Given the description of an element on the screen output the (x, y) to click on. 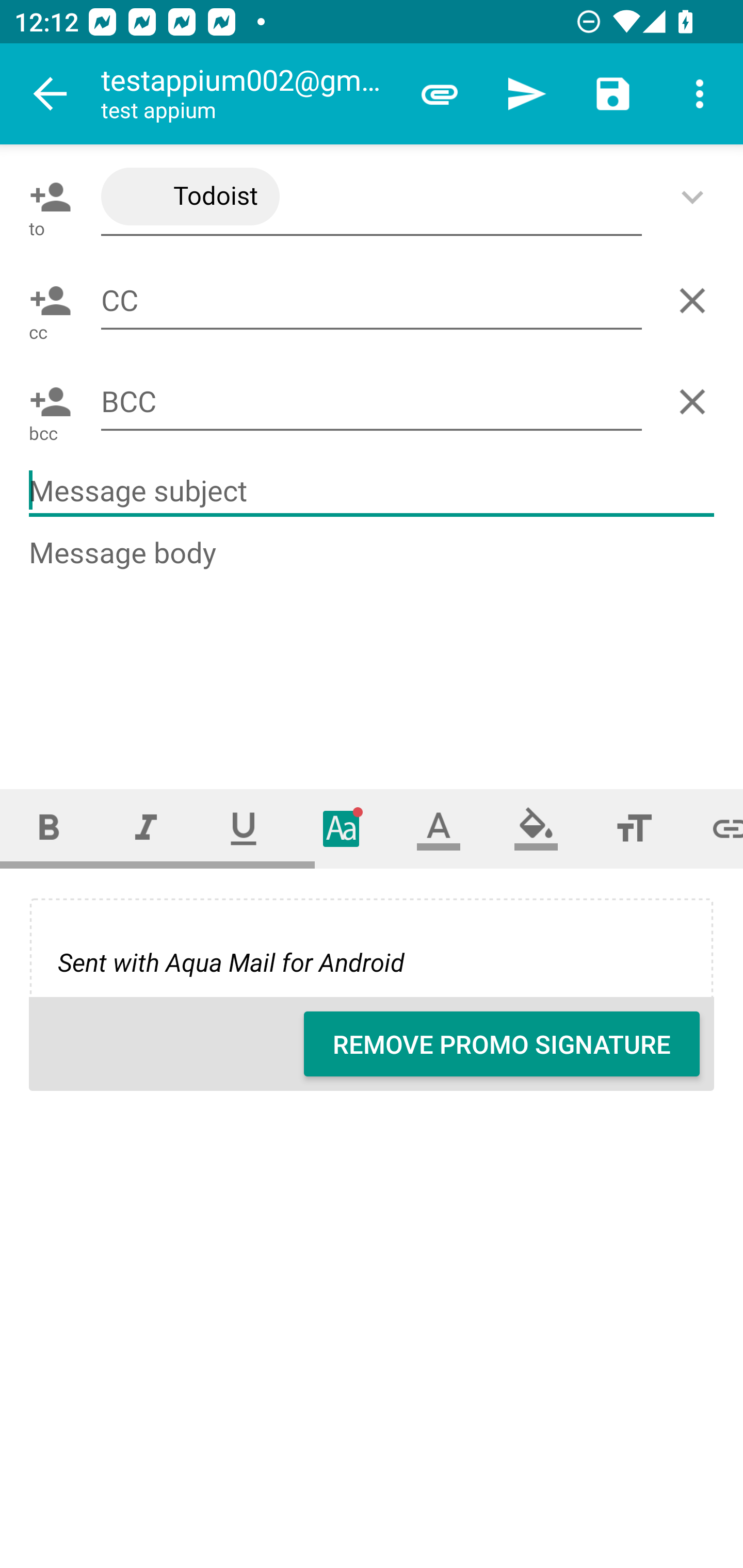
Navigate up (50, 93)
testappium002@gmail.com test appium (248, 93)
Attach (439, 93)
Send (525, 93)
Save (612, 93)
More options (699, 93)
Todoist <no-reply@todoist.com>,  (371, 197)
Pick contact: To (46, 196)
Show/Add CC/BCC (696, 196)
Pick contact: CC (46, 300)
Delete (696, 300)
CC (371, 300)
Pick contact: BCC (46, 401)
Delete (696, 401)
BCC (371, 402)
Message subject (371, 490)
Message body (372, 645)
Bold (48, 828)
Italic (145, 828)
Underline (243, 828)
Typeface (font) (341, 828)
Text color (438, 828)
Fill color (536, 828)
Font size (633, 828)
Set link (712, 828)
REMOVE PROMO SIGNATURE (501, 1044)
